Given the description of an element on the screen output the (x, y) to click on. 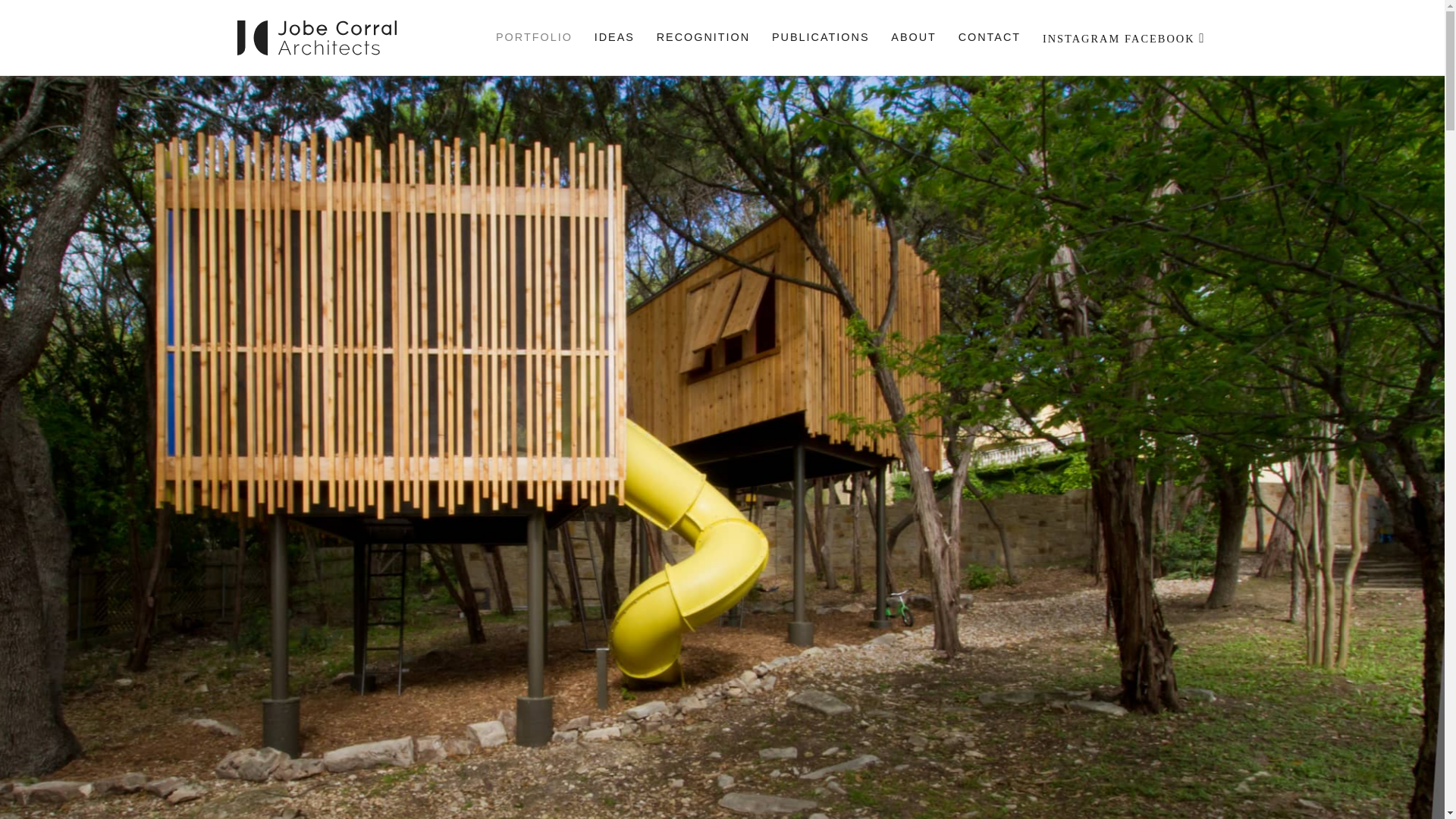
PUBLICATIONS (820, 37)
IDEAS (614, 37)
INSTAGRAM (1077, 39)
PORTFOLIO (533, 37)
CONTACT (988, 37)
Jobe Corral Architects (295, 81)
ABOUT (913, 37)
RECOGNITION (702, 37)
FACEBOOK (1159, 39)
